Given the description of an element on the screen output the (x, y) to click on. 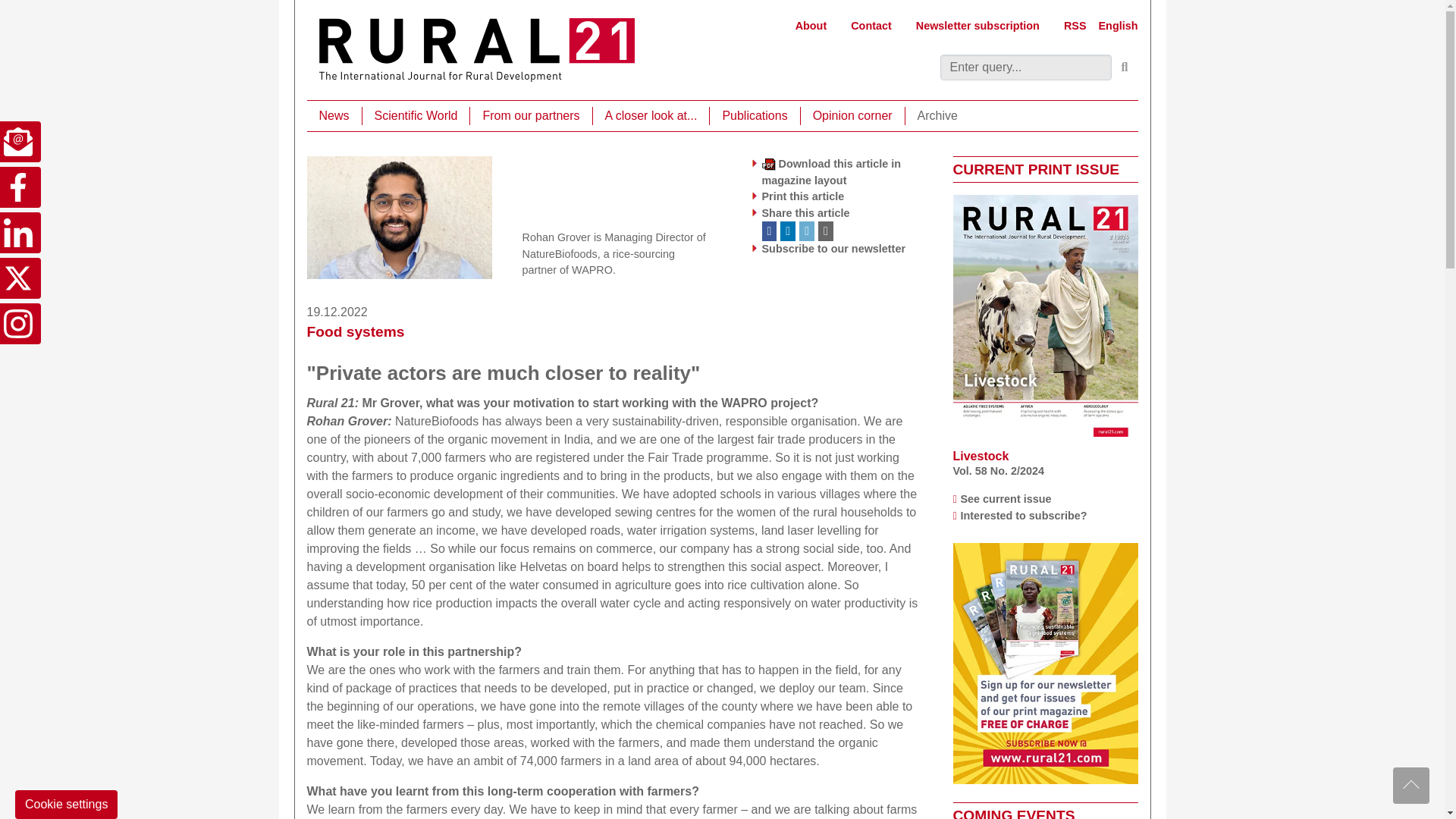
From our partners (530, 116)
About (811, 26)
Contact (871, 26)
Contact (871, 26)
News (333, 116)
News (333, 116)
English (1118, 25)
English (1118, 25)
RSS (1075, 26)
From our partners (530, 116)
